Given the description of an element on the screen output the (x, y) to click on. 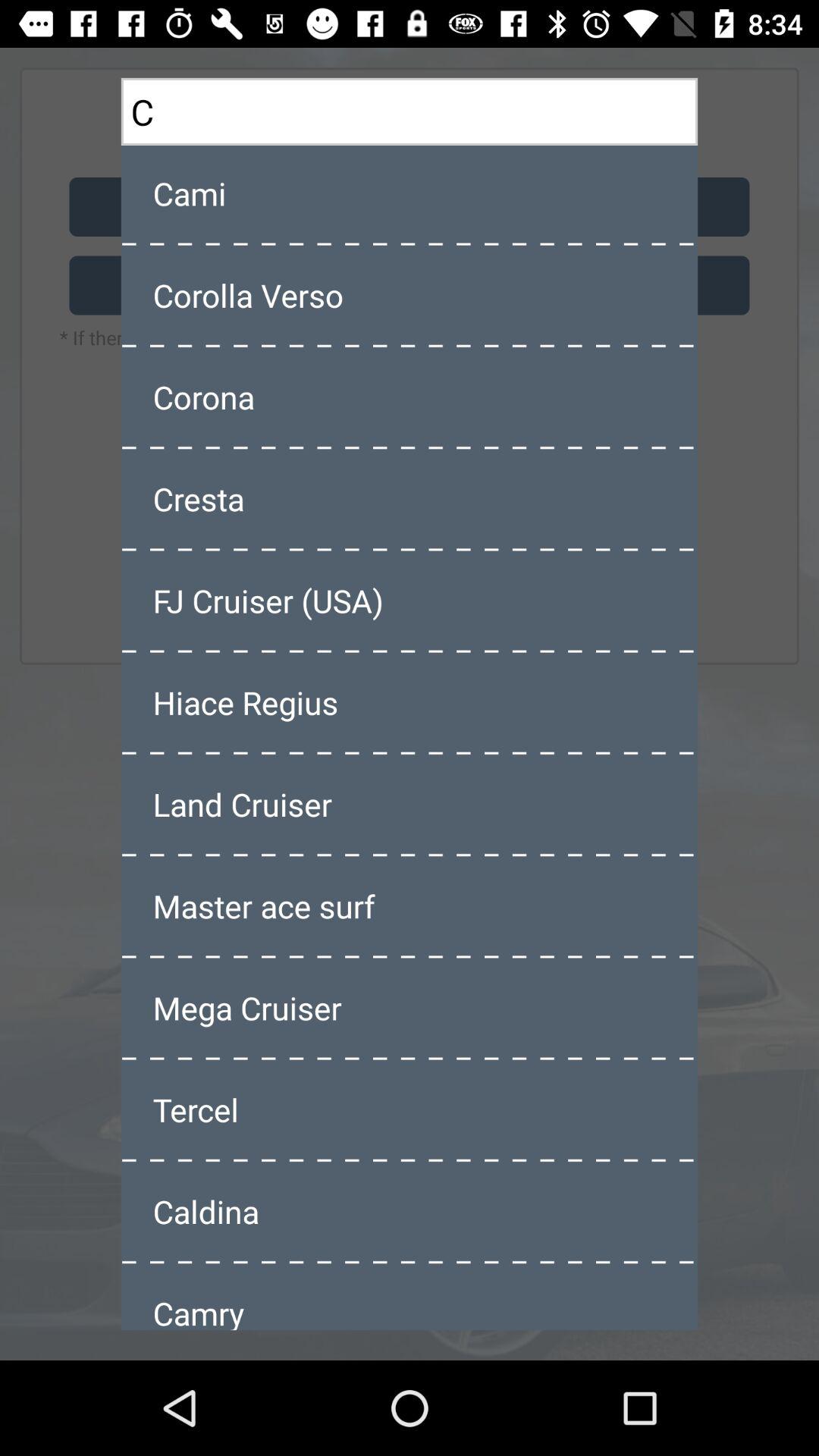
press item below the cresta icon (409, 600)
